Given the description of an element on the screen output the (x, y) to click on. 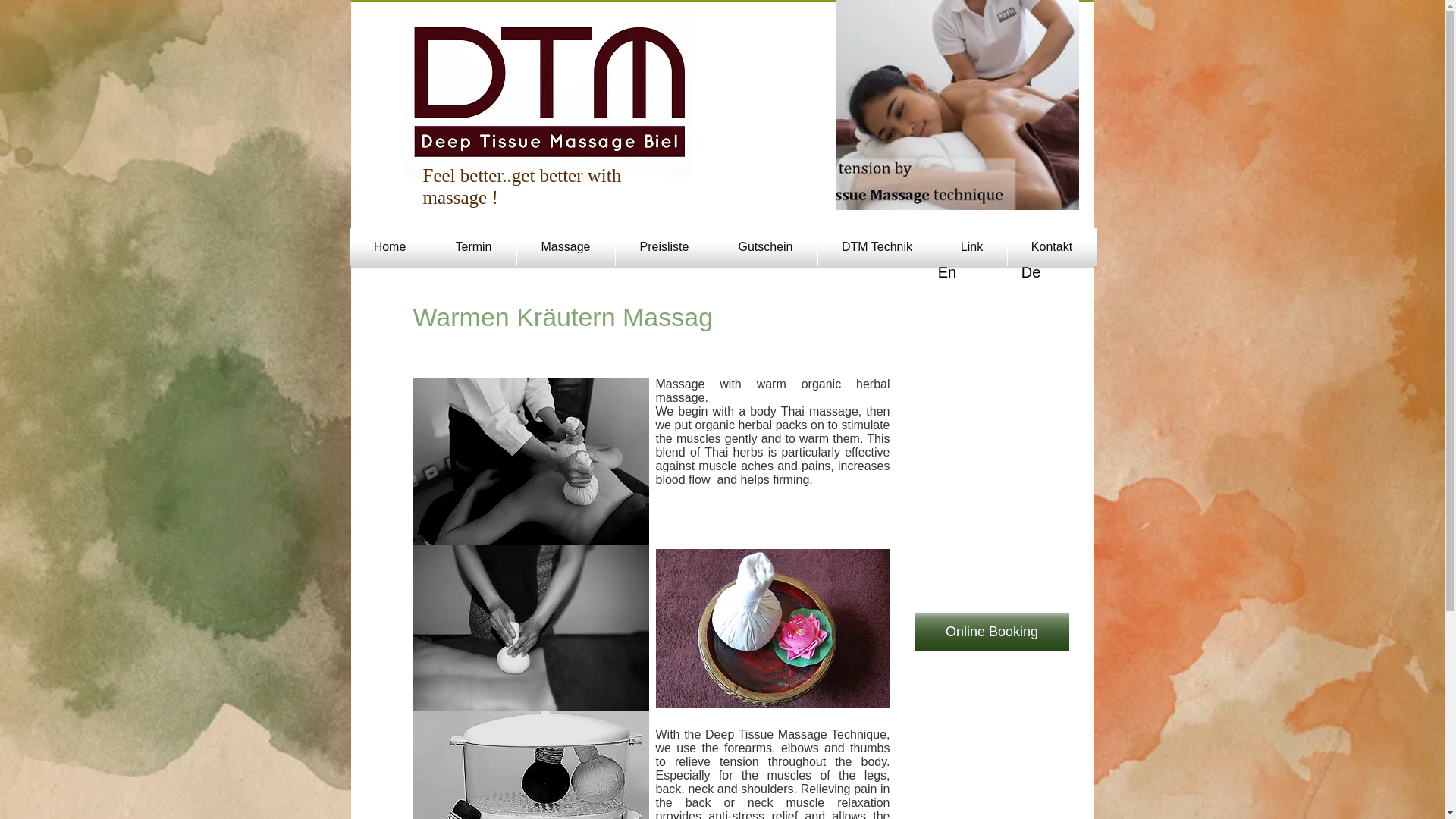
De (1030, 272)
Edited Image 2016-03-20 17-18-09 (529, 764)
Preisliste (664, 247)
En (947, 272)
Feel better..get better with massage ! (522, 186)
Link (972, 247)
Kontakt (1051, 247)
Online Booking (991, 631)
Home (389, 247)
DTM Technik (876, 247)
Gutschein (765, 247)
Massage (565, 247)
Termin (472, 247)
